Given the description of an element on the screen output the (x, y) to click on. 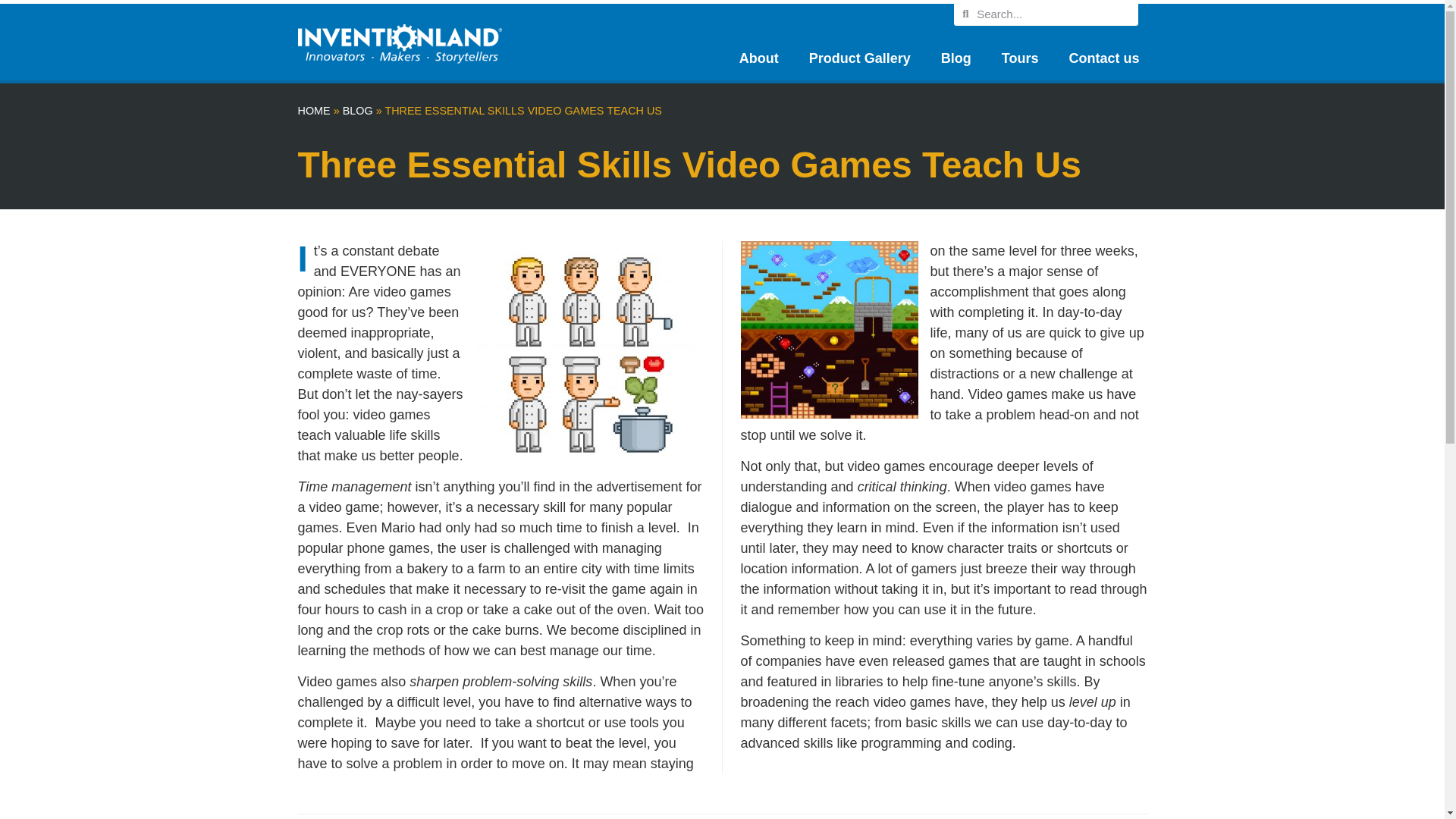
Contact us (1103, 58)
Product Gallery (859, 58)
Blog (956, 58)
Video Game Chefs Cooking (589, 354)
About (758, 58)
HOME (313, 110)
BLOG (357, 110)
Tours (1020, 58)
